Given the description of an element on the screen output the (x, y) to click on. 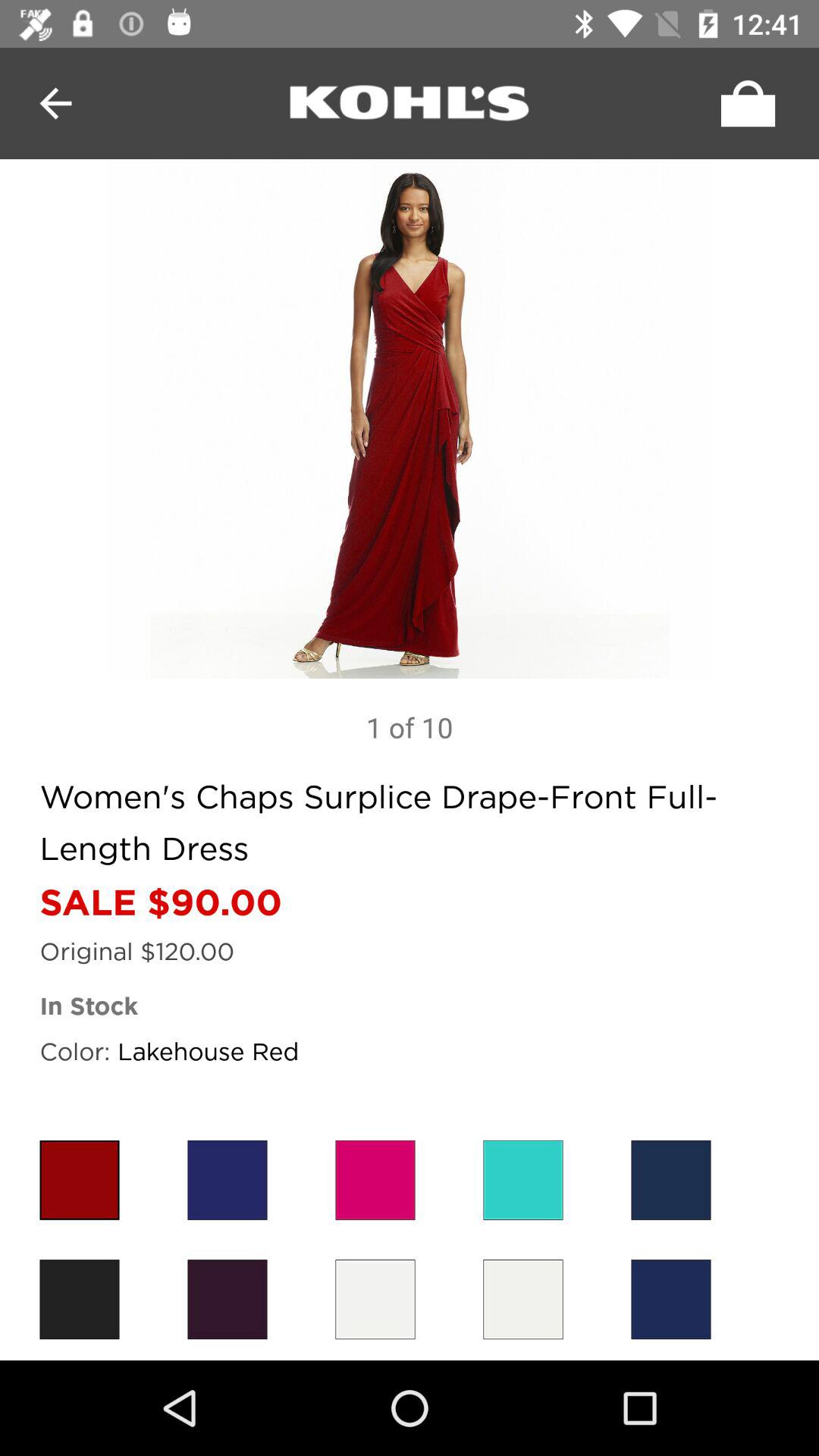
select brown (79, 1299)
